Given the description of an element on the screen output the (x, y) to click on. 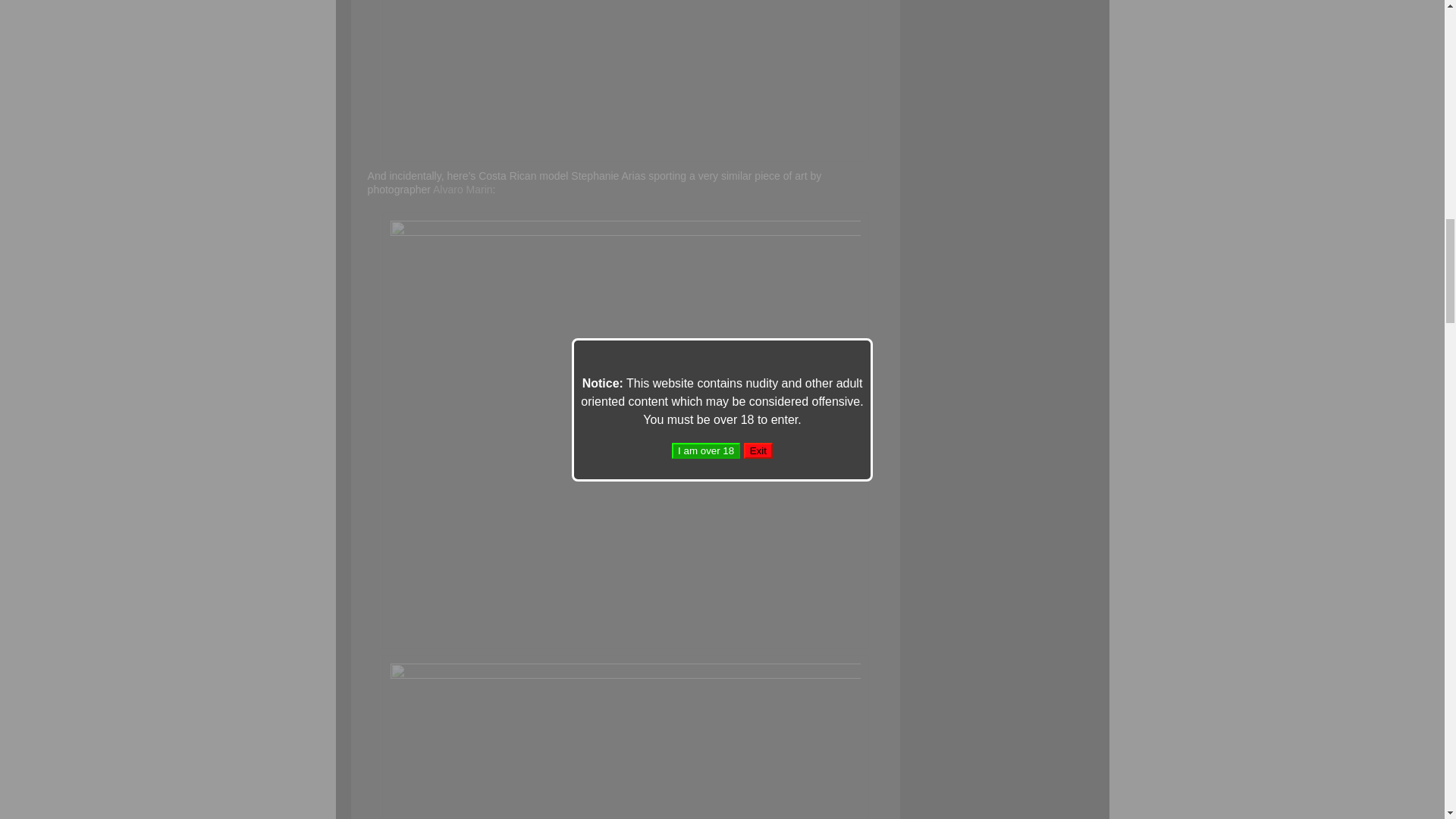
Alvaro Marin (462, 189)
